Given the description of an element on the screen output the (x, y) to click on. 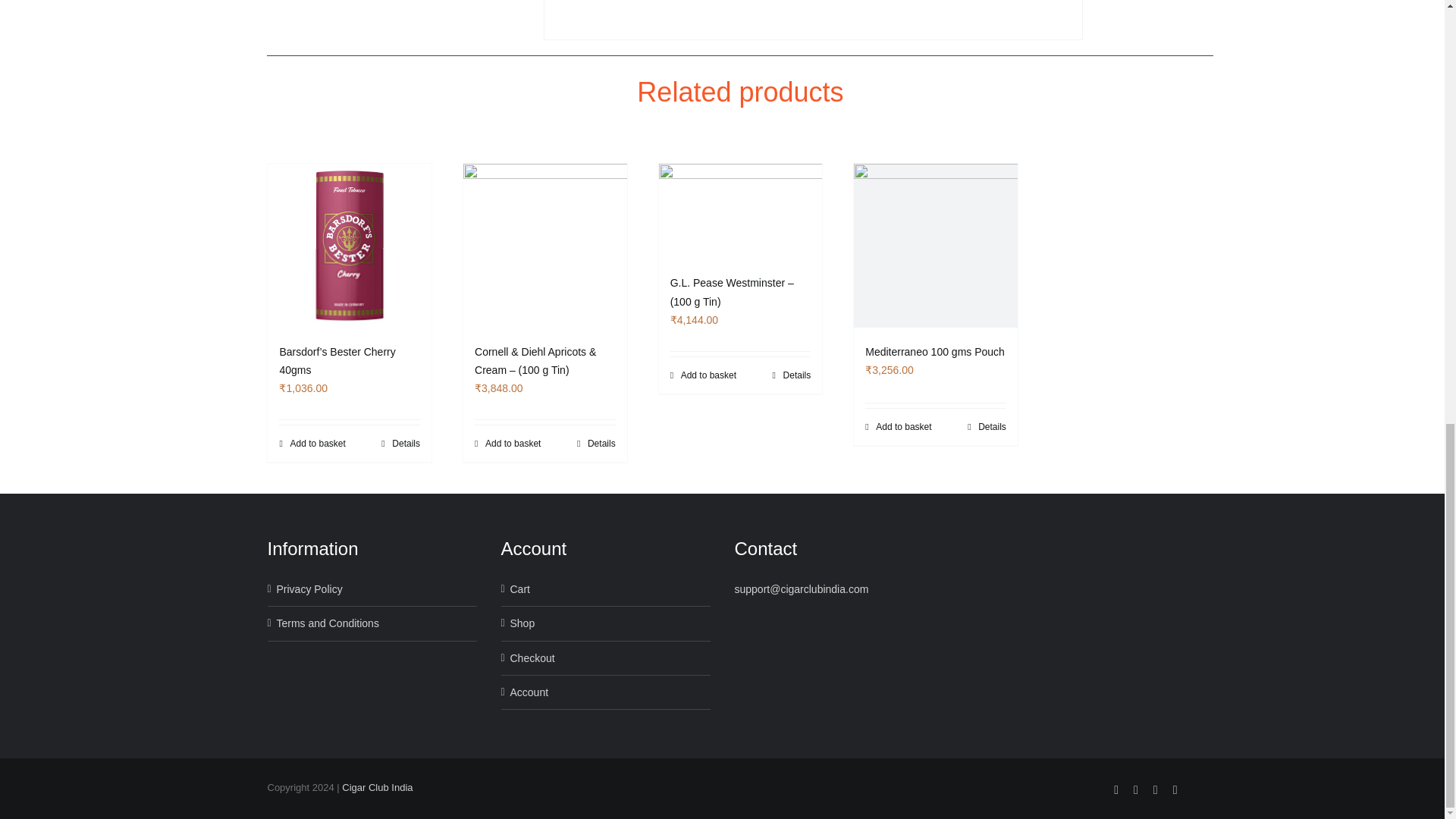
Add to basket (702, 375)
Add to basket (897, 427)
Add to basket (312, 443)
Mediterraneo 100 gms Pouch (934, 351)
Details (595, 443)
Details (791, 375)
Details (400, 443)
Add to basket (507, 443)
